Given the description of an element on the screen output the (x, y) to click on. 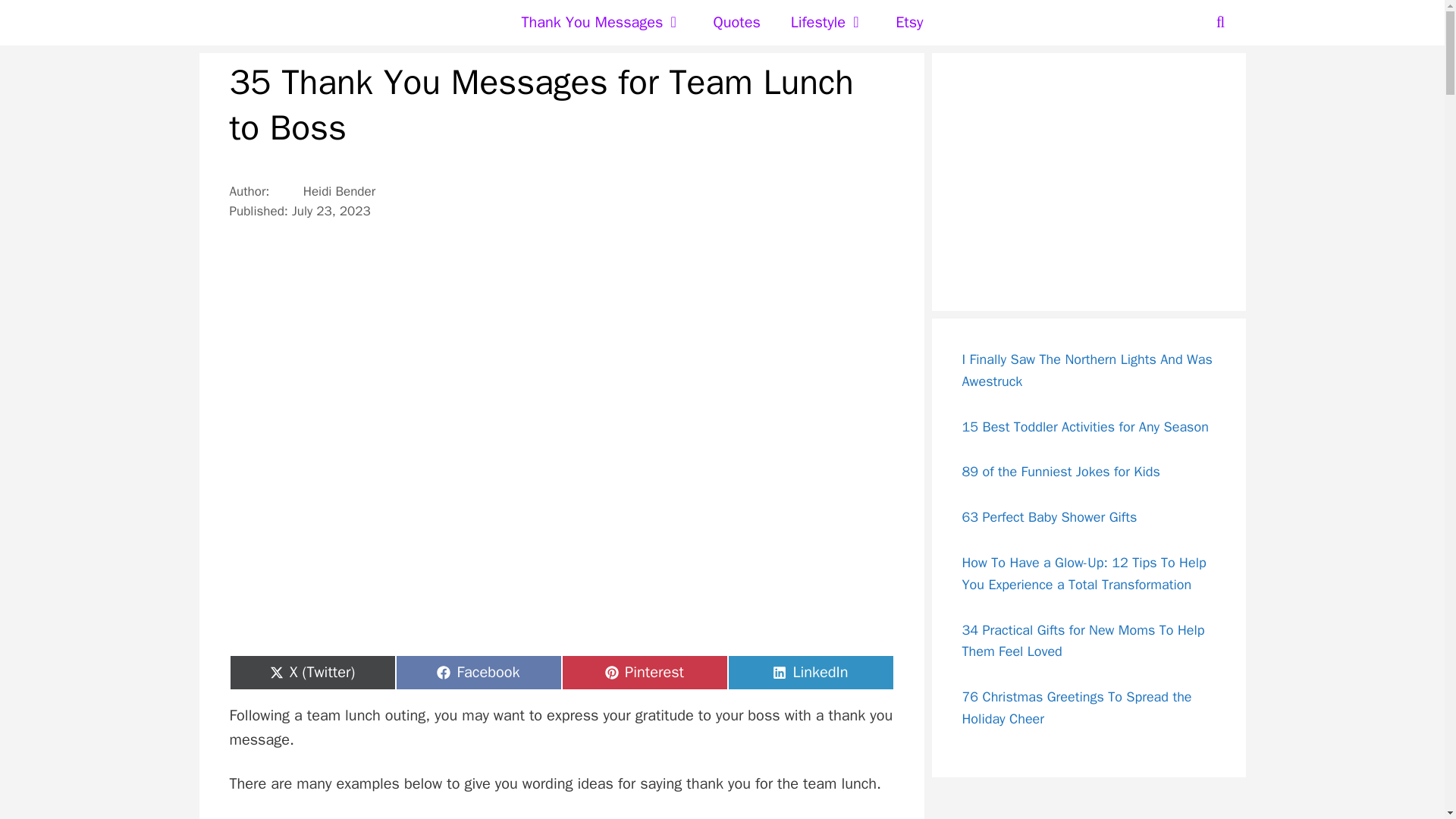
Thank You Messages By Topic (602, 22)
Thank You Messages (602, 22)
Tons of Thanks (274, 22)
